Given the description of an element on the screen output the (x, y) to click on. 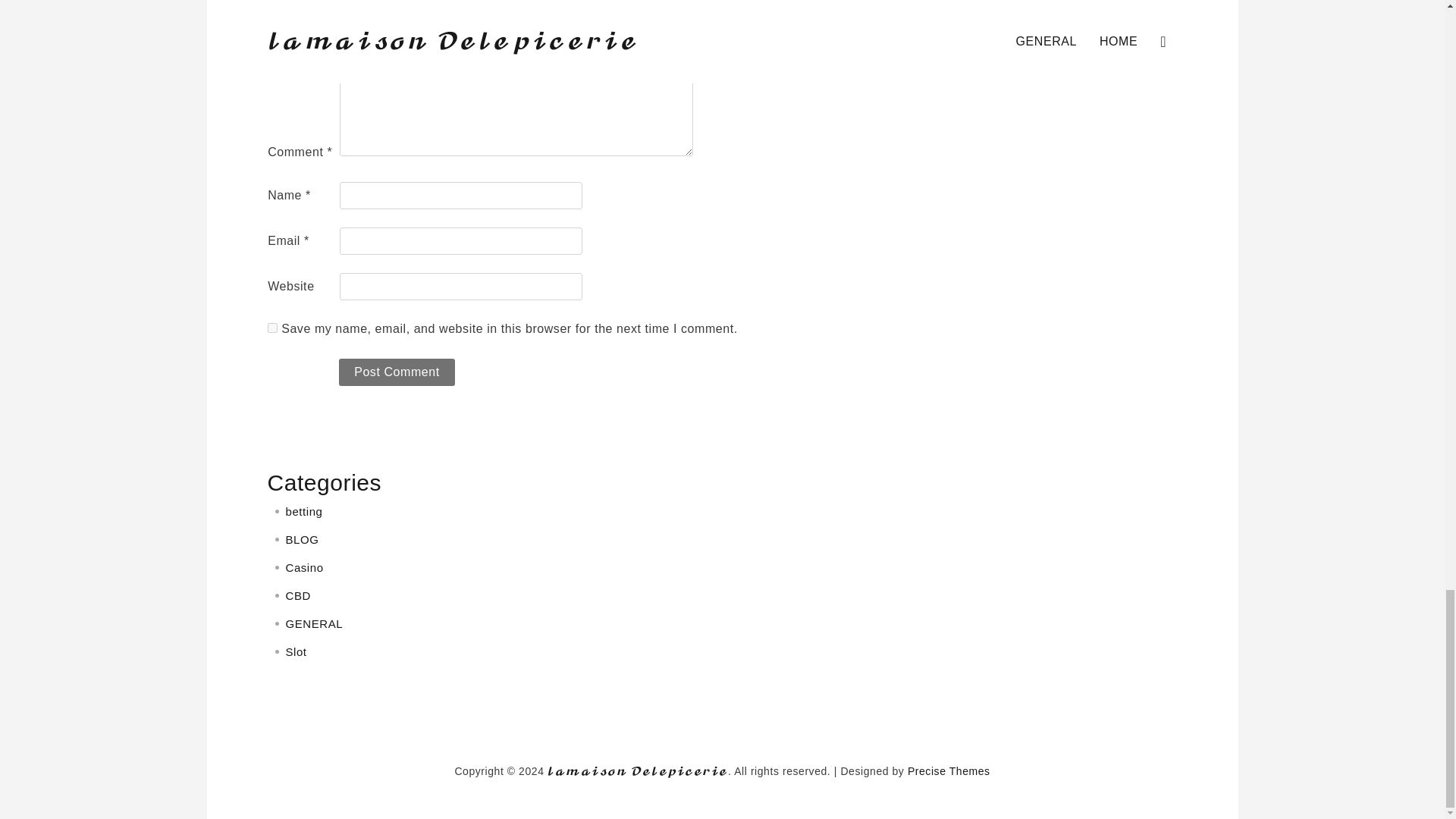
Post Comment (396, 371)
Post Comment (396, 371)
betting (303, 511)
yes (272, 327)
BLOG (301, 539)
Casino (304, 567)
